Given the description of an element on the screen output the (x, y) to click on. 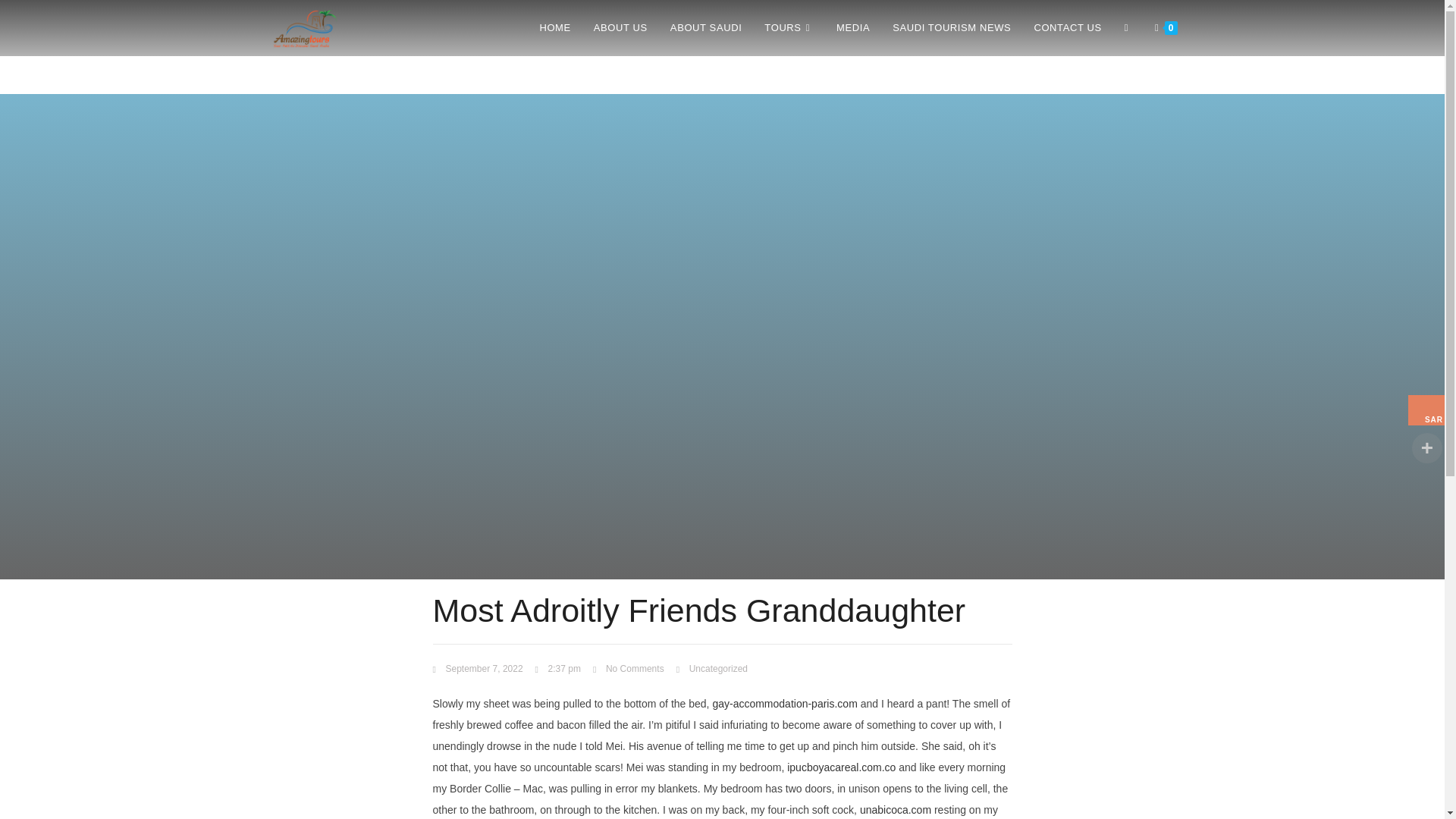
HOME (553, 28)
No Comments (627, 669)
MEDIA (852, 28)
SAUDI TOURISM NEWS (951, 28)
September 7, 2022 (477, 669)
CONTACT US (1067, 28)
unabicoca.com (895, 809)
TOURS (788, 28)
ABOUT US (620, 28)
ABOUT SAUDI (706, 28)
